Given the description of an element on the screen output the (x, y) to click on. 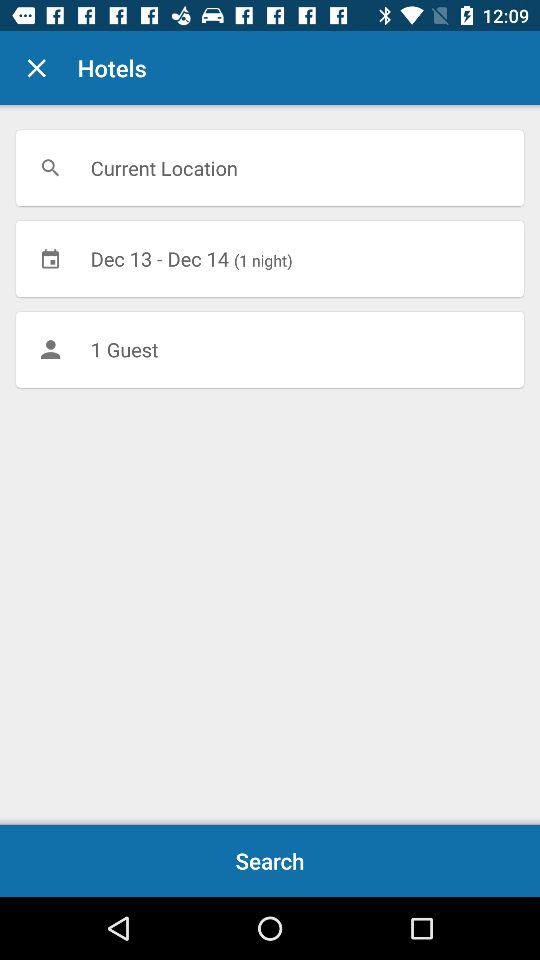
flip until the current location (269, 168)
